Given the description of an element on the screen output the (x, y) to click on. 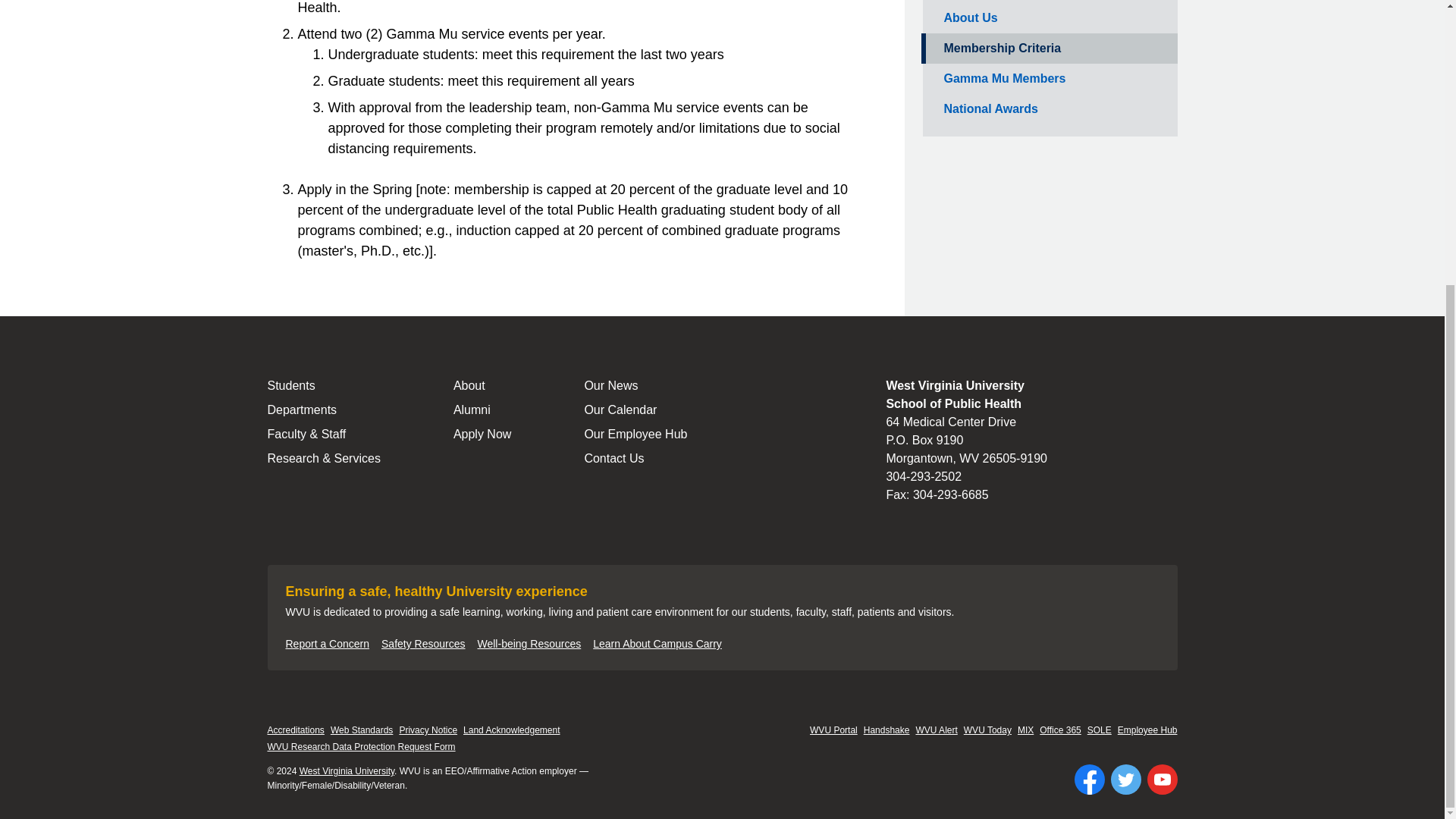
Membership Criteria (1048, 48)
Alumni (481, 410)
Apply Now (481, 434)
Gamma Mu Members (1048, 78)
Resources (1048, 1)
Students (323, 385)
About Us (1048, 18)
Our Calendar (635, 410)
About (481, 385)
Our News (635, 385)
Departments (323, 410)
National Awards (1048, 109)
